Given the description of an element on the screen output the (x, y) to click on. 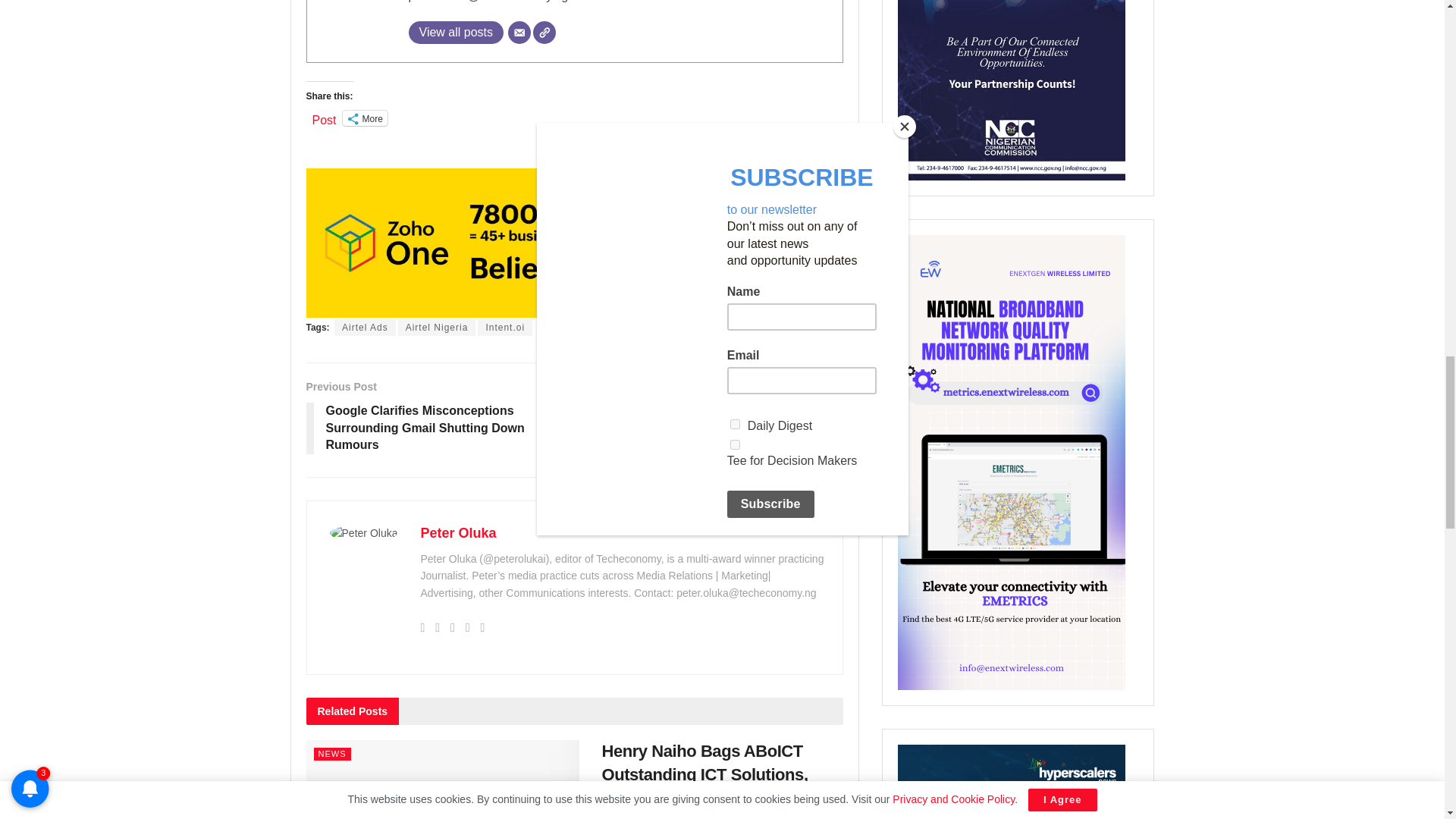
View all posts (455, 32)
